Given the description of an element on the screen output the (x, y) to click on. 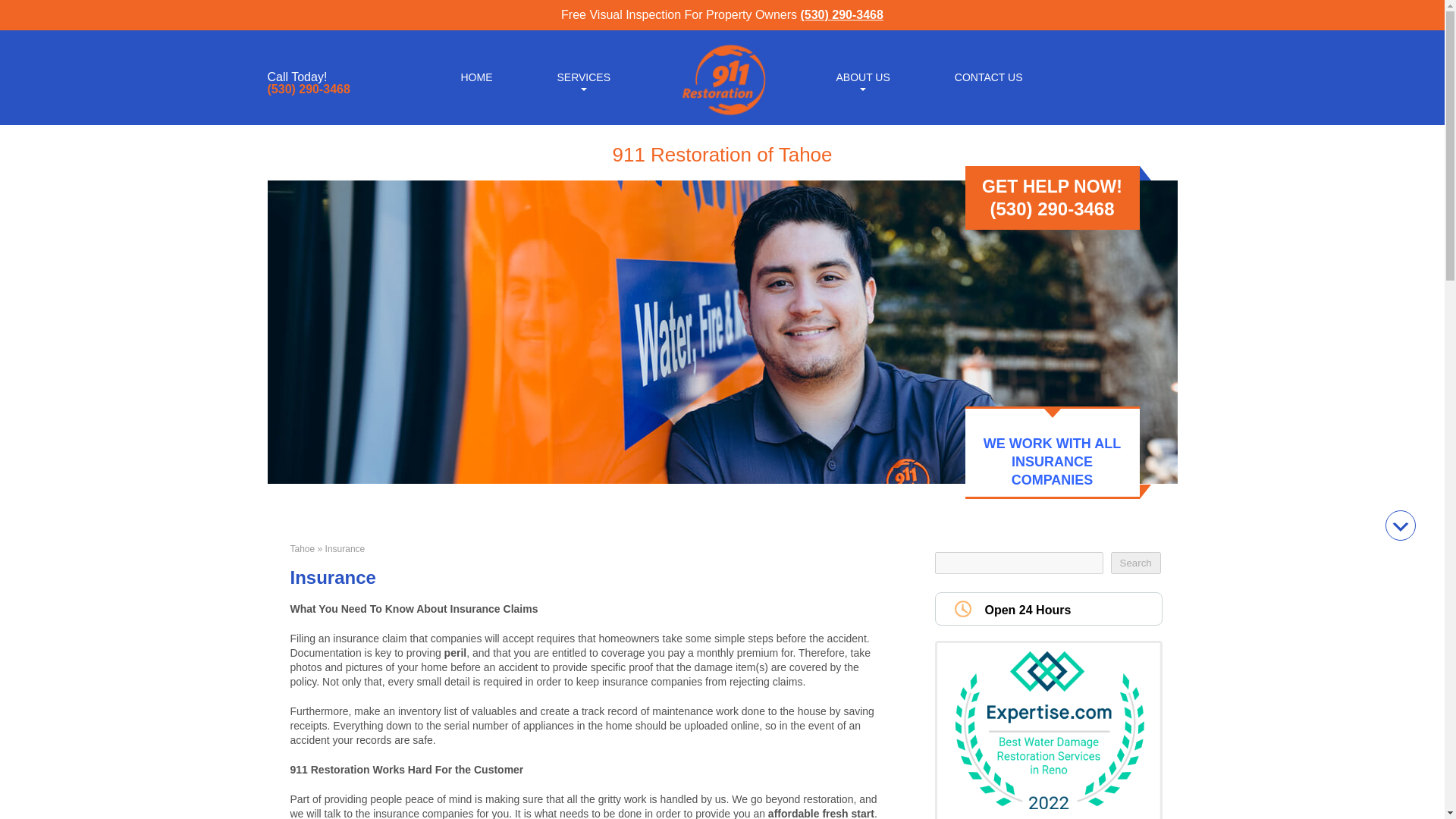
ABOUT US (862, 76)
911 Water Damage Restoration Logo (721, 115)
SERVICES (582, 76)
Scroll to Down (1400, 525)
Go to Tahoe. (301, 548)
CONTACT US (988, 76)
Search (1134, 563)
HOME (476, 76)
